Given the description of an element on the screen output the (x, y) to click on. 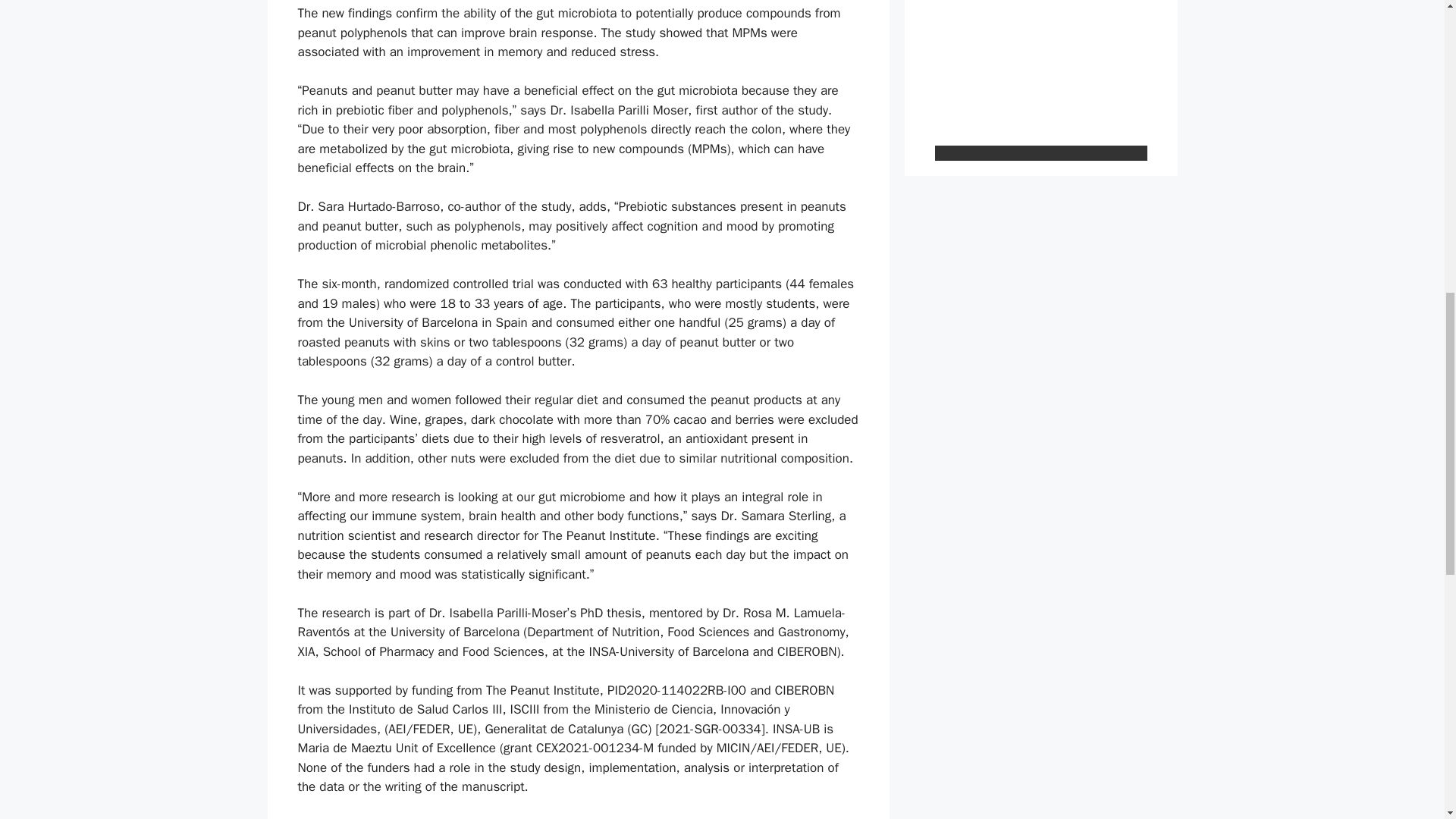
Scroll back to top (1406, 720)
 The Peanut Institute (477, 818)
